Given the description of an element on the screen output the (x, y) to click on. 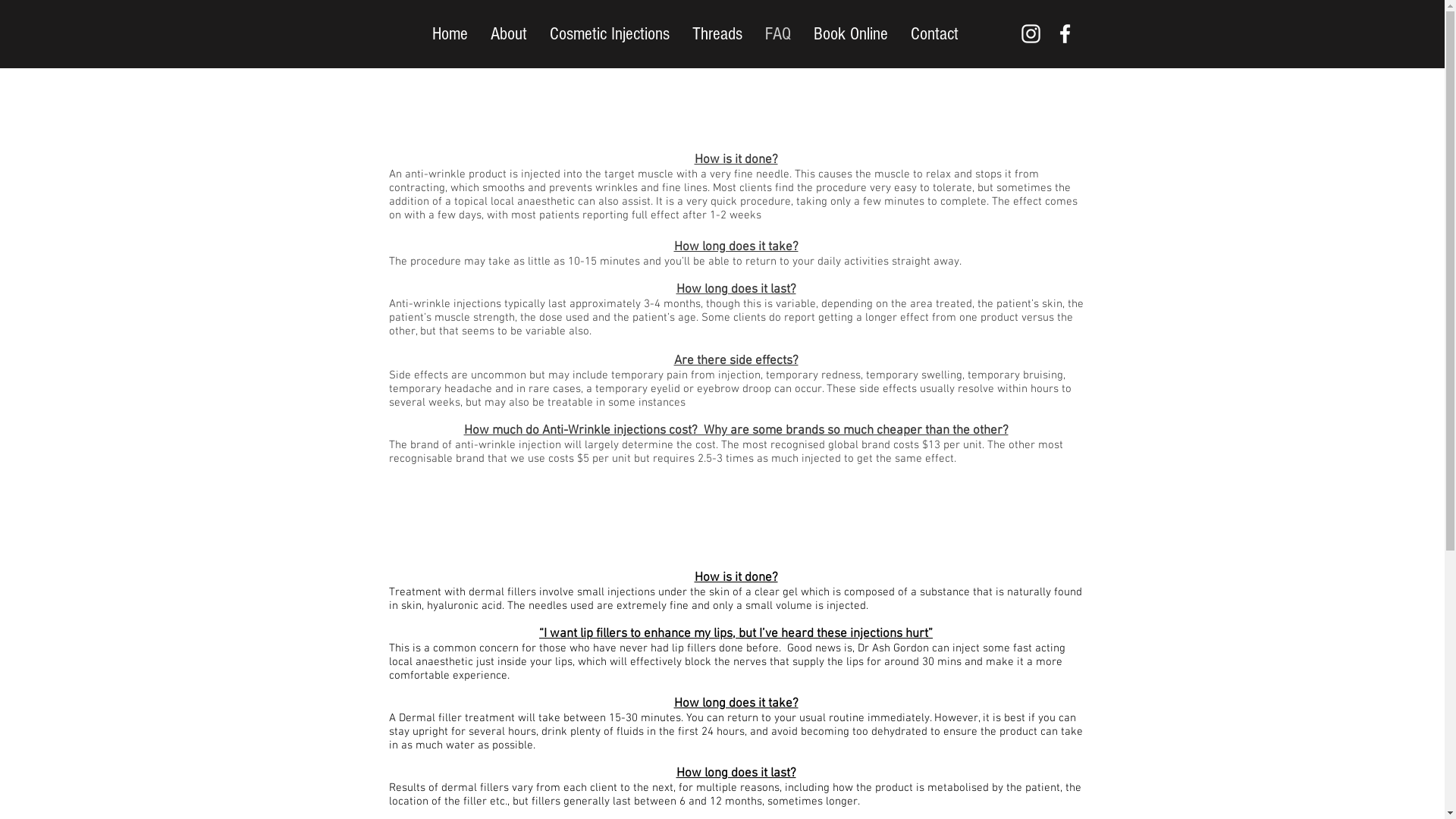
Contact Element type: text (934, 34)
FAQ Element type: text (777, 34)
Home Element type: text (449, 34)
Cosmetic Injections Element type: text (609, 34)
About Element type: text (508, 34)
Book Online Element type: text (850, 34)
Threads Element type: text (716, 34)
